Given the description of an element on the screen output the (x, y) to click on. 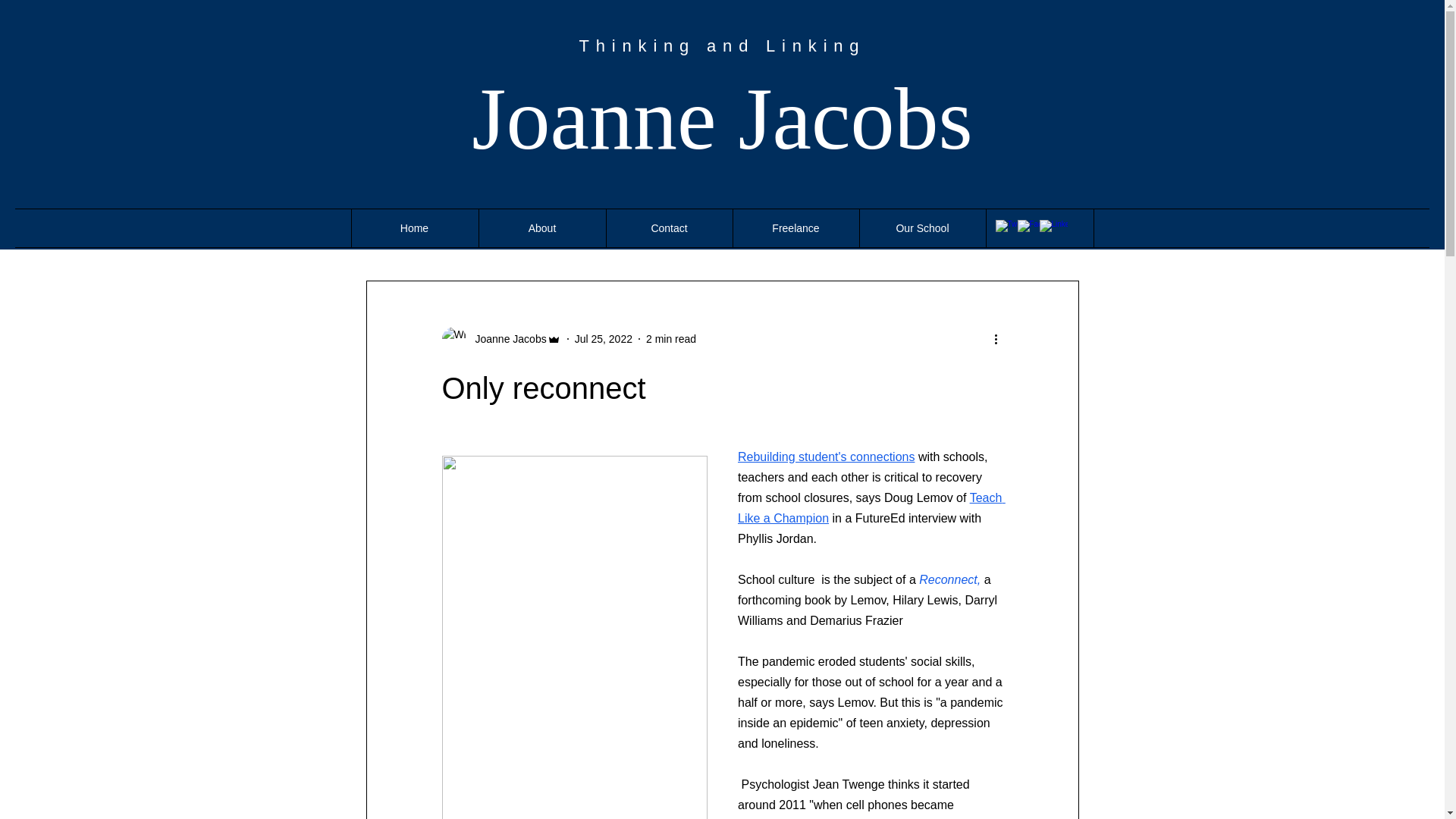
Rebuilding student's connections (825, 456)
Joanne Jacobs (721, 118)
Jul 25, 2022 (603, 337)
About (541, 228)
Joanne Jacobs (505, 338)
Freelance (795, 228)
Contact (668, 228)
Our School (922, 228)
Reconnect, (948, 579)
Home (413, 228)
2 min read (670, 337)
Teach Like a Champion (870, 507)
